Given the description of an element on the screen output the (x, y) to click on. 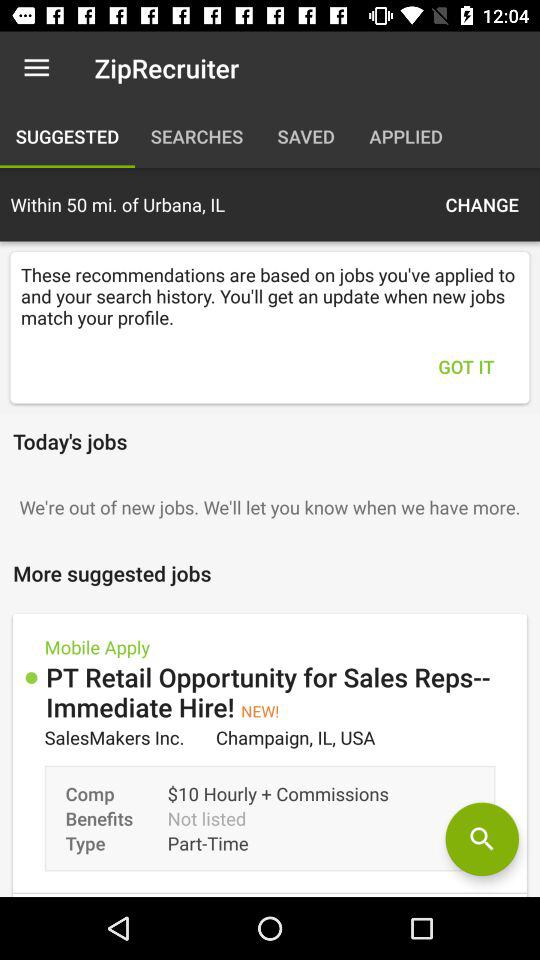
tap got it on the right (466, 366)
